Given the description of an element on the screen output the (x, y) to click on. 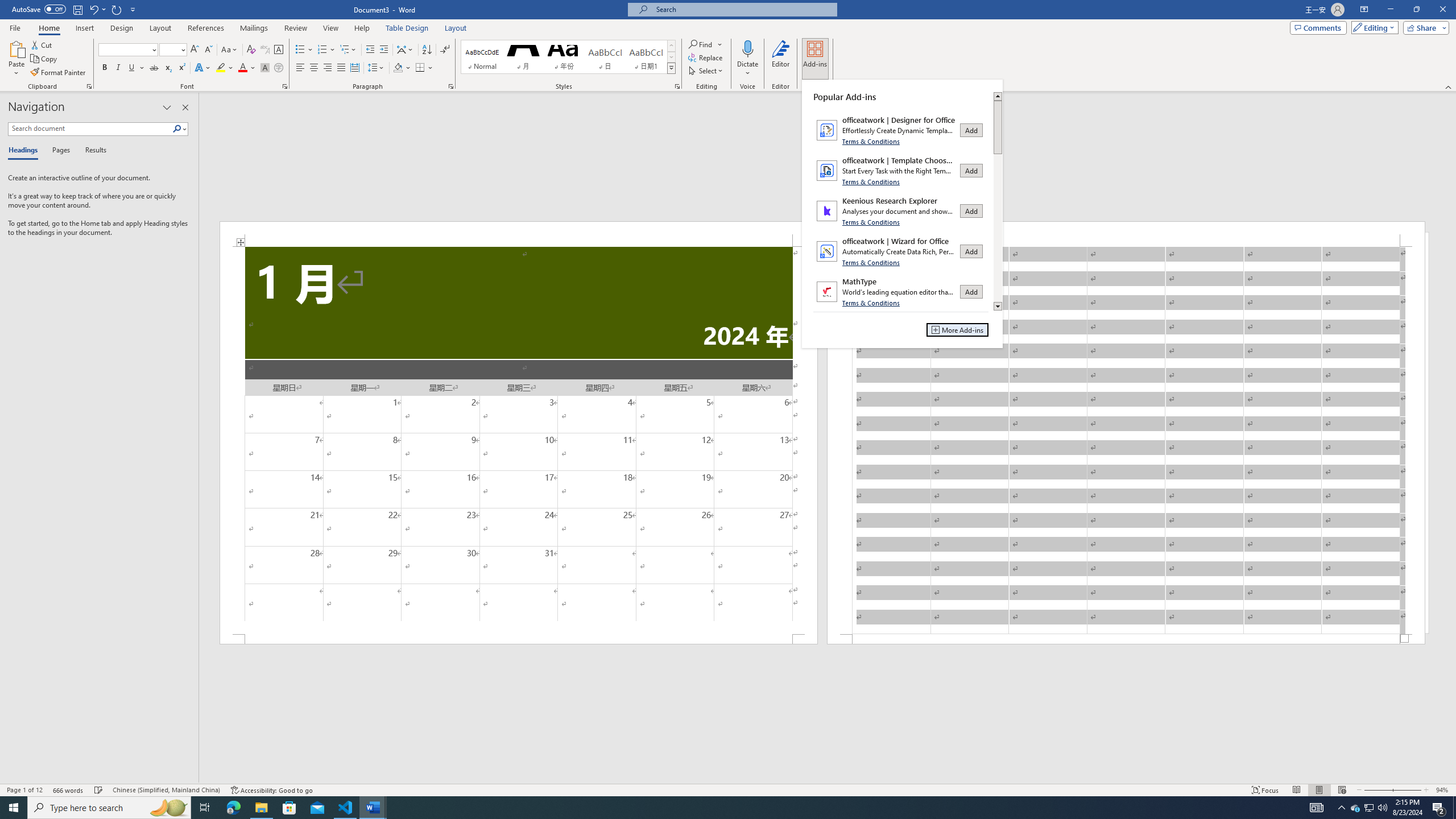
officeatwork | Template Chooser for Office - M365 (900, 170)
More Add-ins (957, 329)
Terms & Conditions (872, 302)
Class: Net UI Tool Window (902, 213)
Keenious Research Explorer (900, 211)
